Given the description of an element on the screen output the (x, y) to click on. 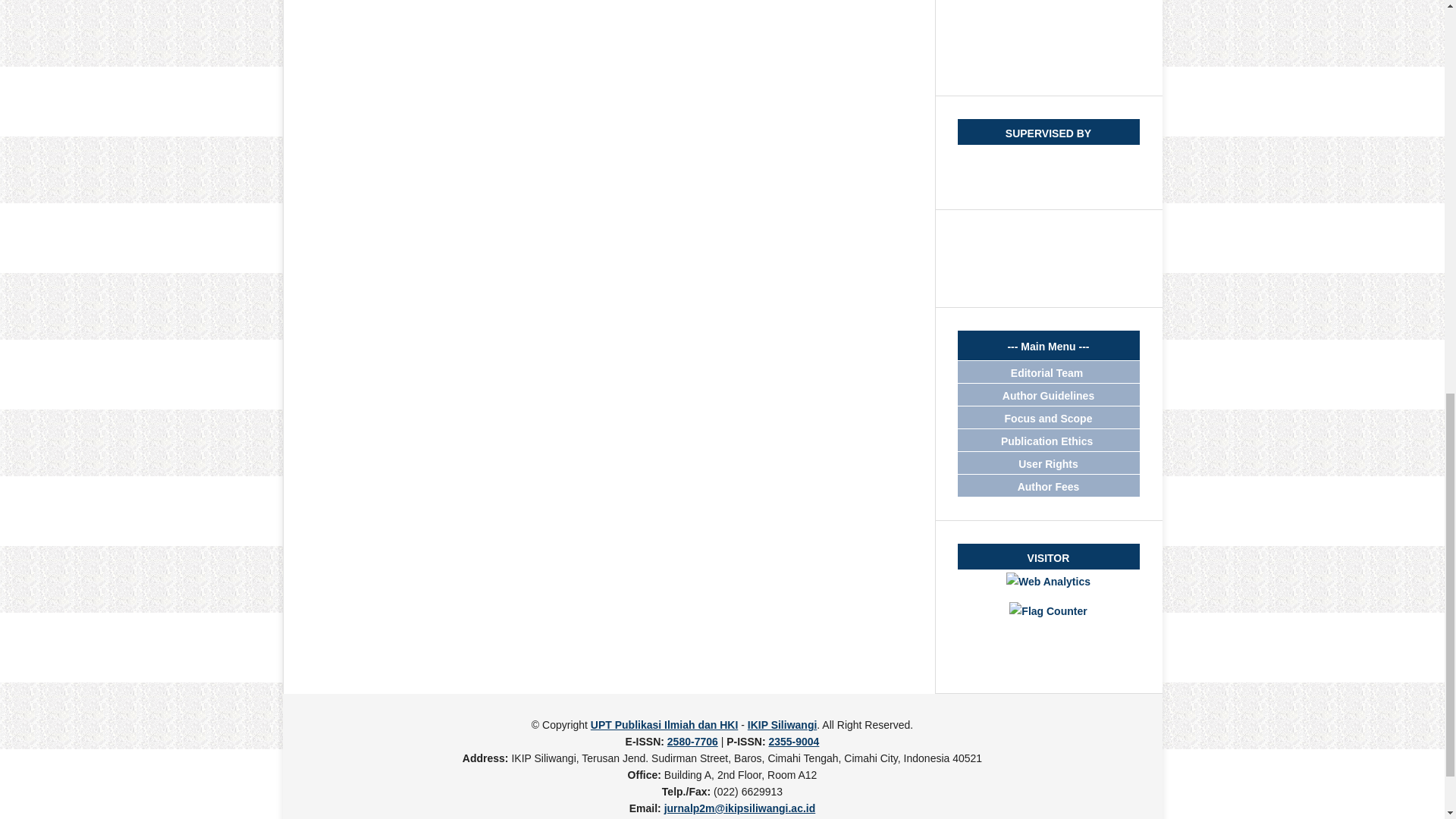
Author Guidelines (1048, 395)
Editorial Team  (1048, 372)
